Given the description of an element on the screen output the (x, y) to click on. 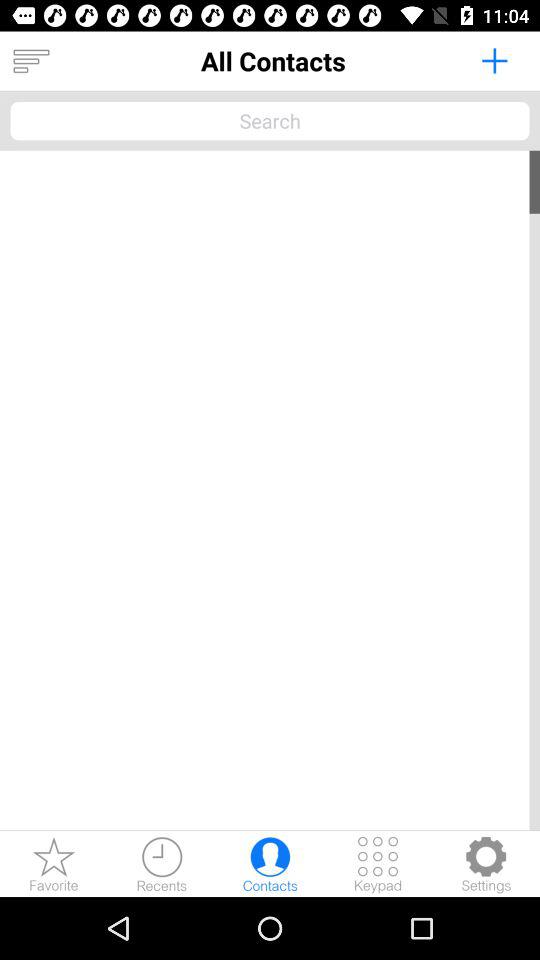
see recent (161, 864)
